Given the description of an element on the screen output the (x, y) to click on. 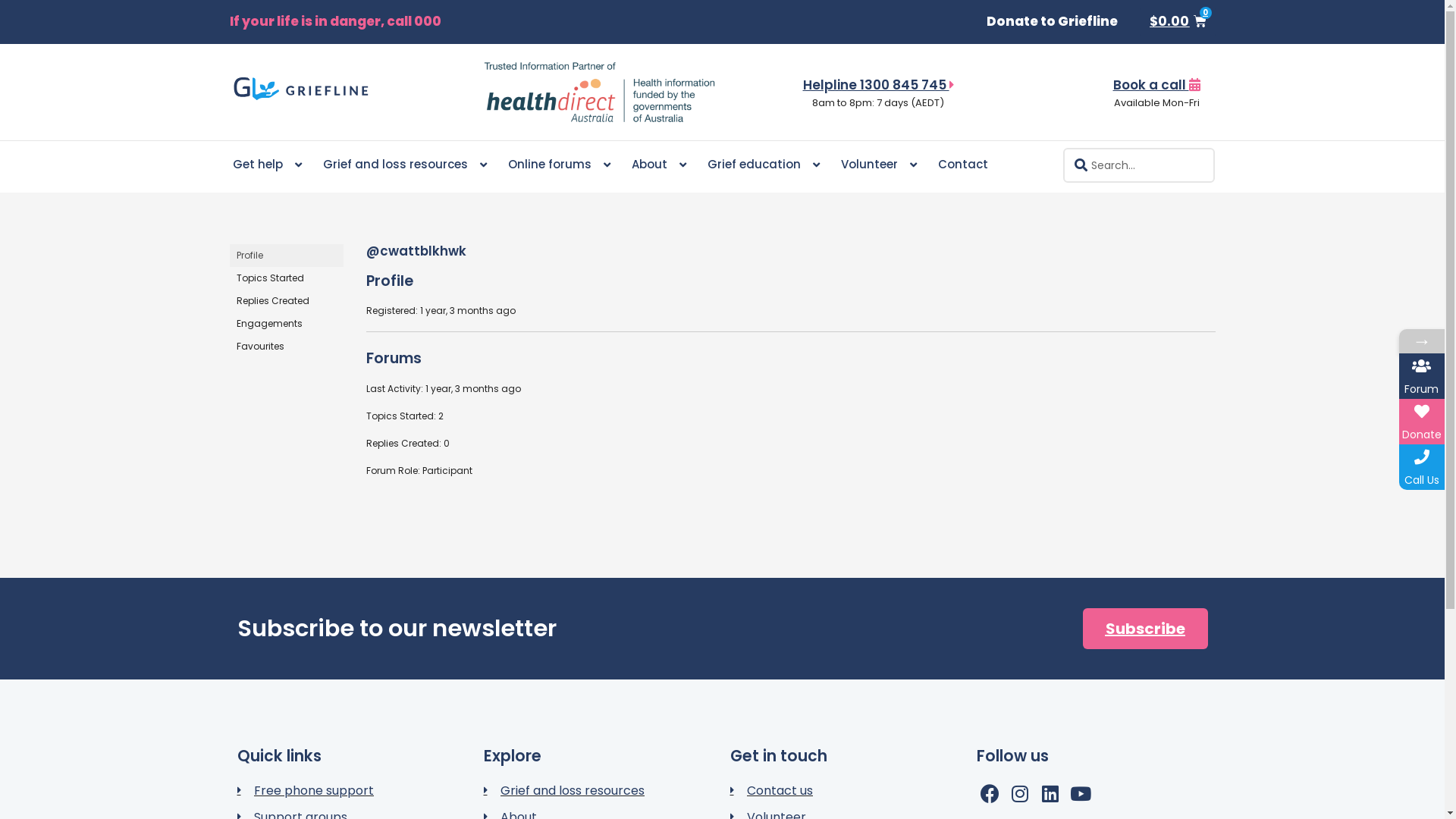
Subscribe Element type: text (1145, 628)
Grief and loss resources Element type: text (599, 790)
Get help Element type: text (266, 164)
Free phone support Element type: text (351, 790)
Grief and loss resources Element type: text (404, 164)
Call Us Element type: text (1421, 466)
Favourites Element type: text (285, 346)
Grief education Element type: text (762, 164)
$0.00
0 Element type: text (1177, 21)
Book a call Element type: text (1156, 84)
Profile Element type: text (285, 255)
Engagements Element type: text (285, 323)
Contact us Element type: text (844, 790)
Donate Element type: text (1421, 421)
If your life is in danger, call 000 Element type: text (475, 21)
Donate to Griefline Element type: text (1051, 21)
Replies Created Element type: text (285, 300)
Contact Element type: text (961, 164)
Topics Started Element type: text (285, 277)
Forum Element type: text (1421, 375)
Online forums Element type: text (559, 164)
About Element type: text (658, 164)
Helpline 1300 845 745 Element type: text (877, 84)
Volunteer Element type: text (877, 164)
